Given the description of an element on the screen output the (x, y) to click on. 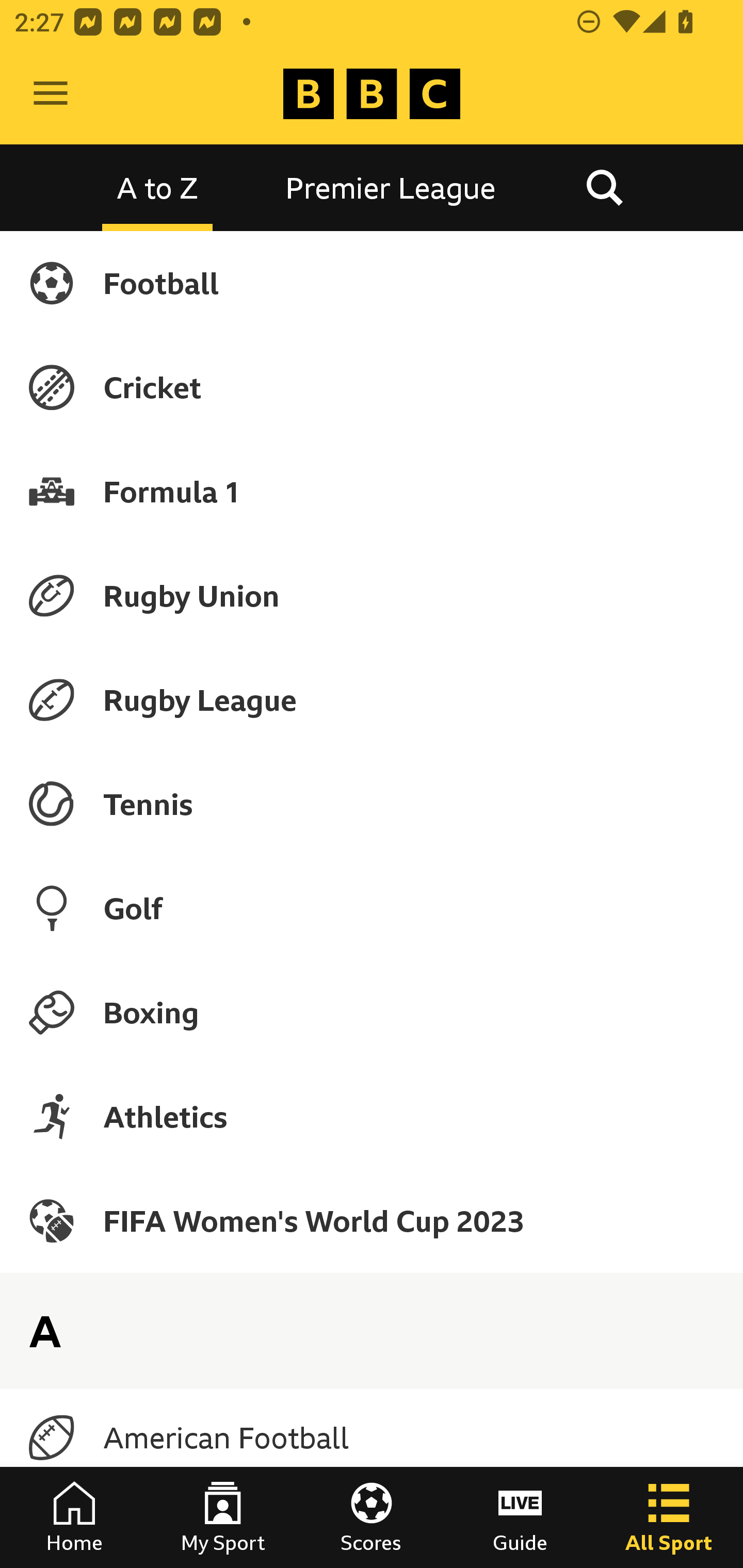
Open Menu (50, 93)
Premier League (390, 187)
Search (604, 187)
Football (371, 282)
Cricket (371, 387)
Formula 1 (371, 491)
Rugby Union (371, 595)
Rugby League (371, 699)
Tennis (371, 804)
Golf (371, 907)
Boxing (371, 1011)
Athletics (371, 1116)
FIFA Women's World Cup 2023 (371, 1220)
American Football (371, 1437)
Home (74, 1517)
My Sport (222, 1517)
Scores (371, 1517)
Guide (519, 1517)
